Given the description of an element on the screen output the (x, y) to click on. 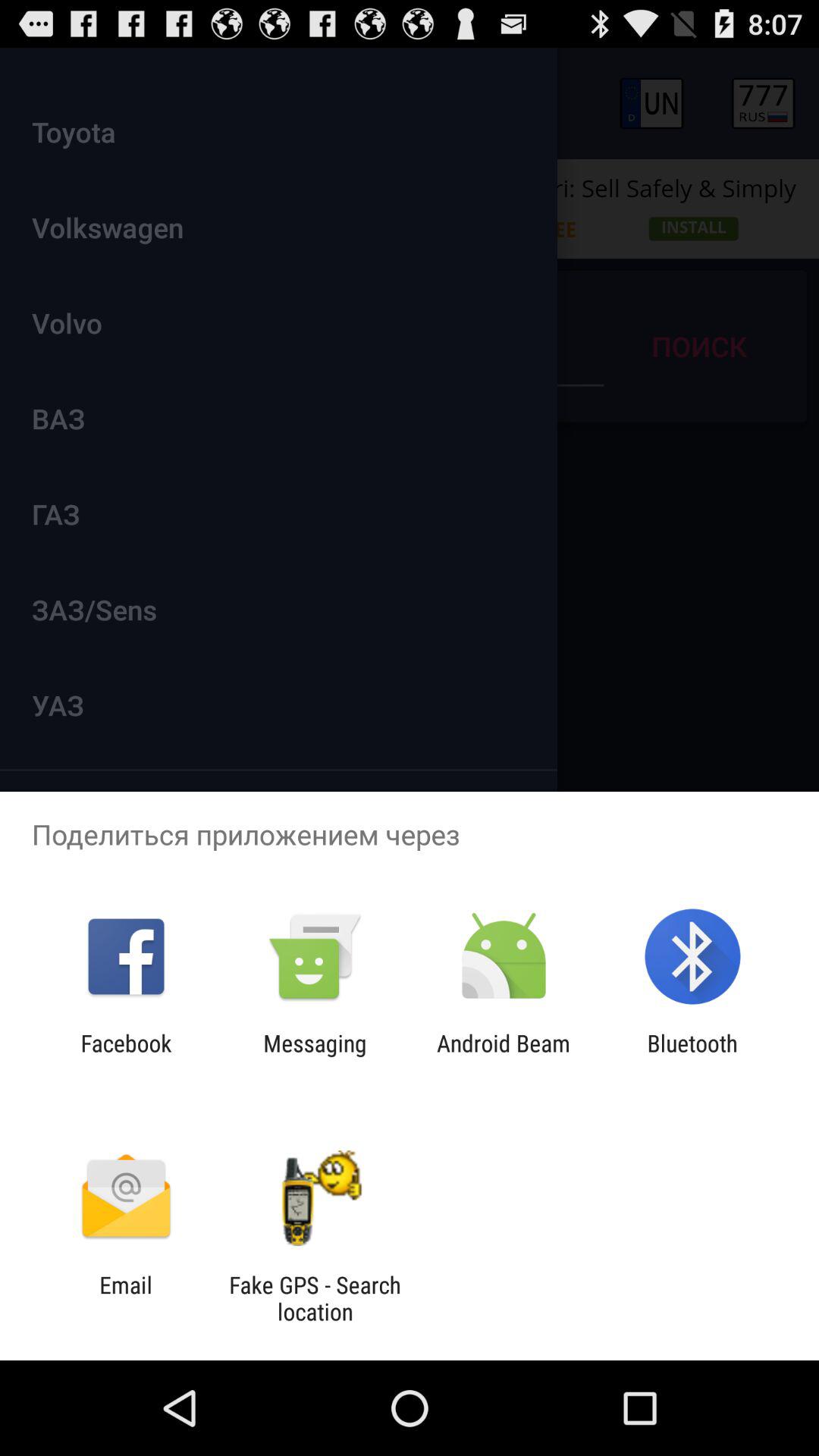
select app to the right of messaging app (503, 1056)
